Given the description of an element on the screen output the (x, y) to click on. 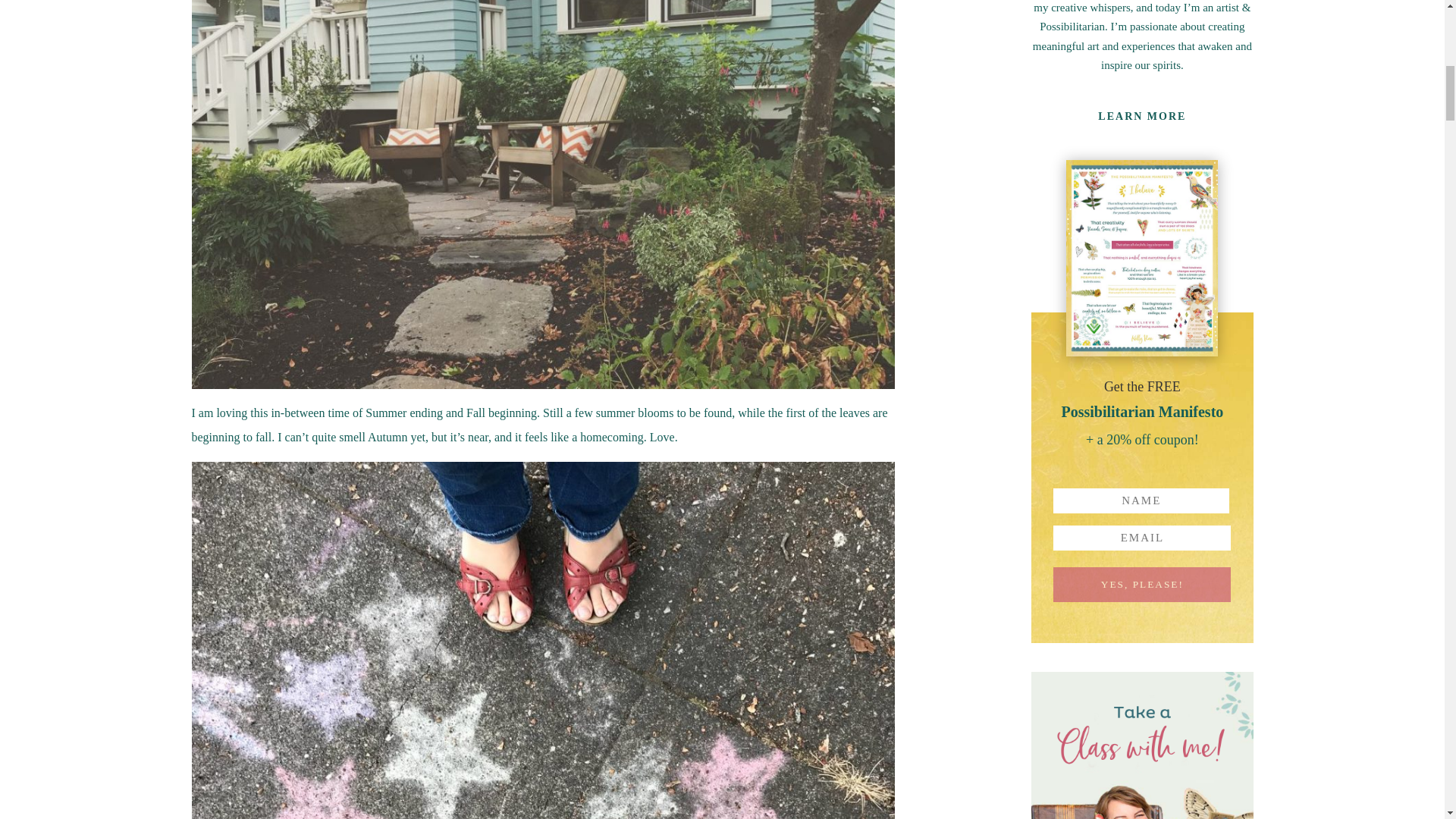
YES, PLEASE! (1141, 584)
YES, PLEASE! (1141, 584)
Blog Sidebar (1141, 745)
LEARN MORE (1141, 116)
